Given the description of an element on the screen output the (x, y) to click on. 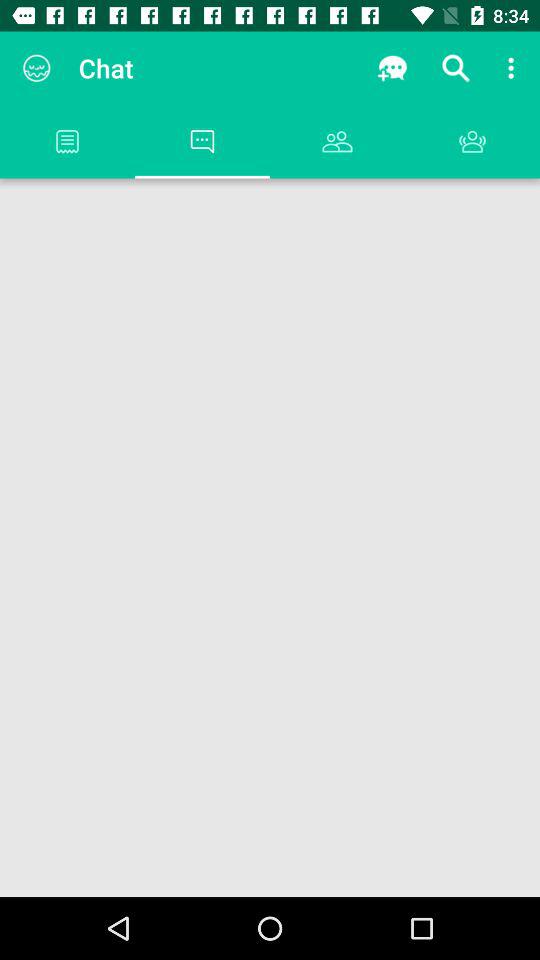
select app next to chat (36, 68)
